Given the description of an element on the screen output the (x, y) to click on. 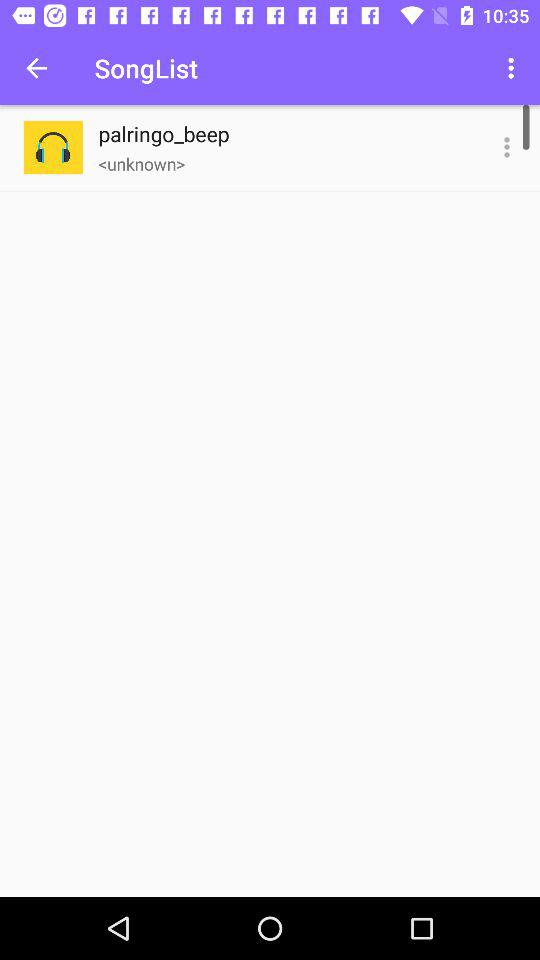
tap the item to the left of the songlist icon (36, 68)
